Given the description of an element on the screen output the (x, y) to click on. 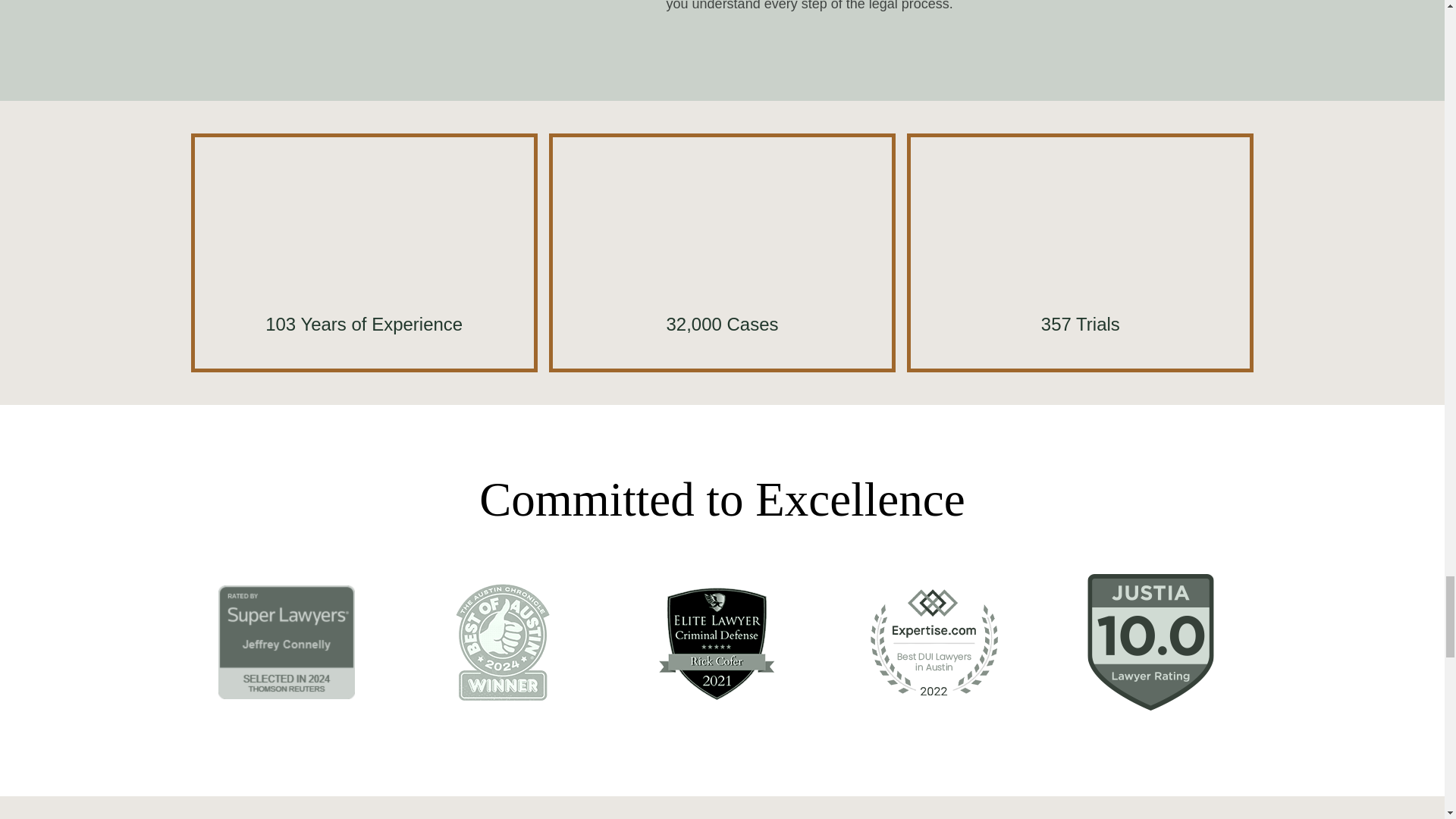
Justia - 10.0 Lawyer Rating (1150, 642)
Super Lawyer 2024 (286, 642)
2022 Best DUI Lawyers in Austin (933, 641)
